Given the description of an element on the screen output the (x, y) to click on. 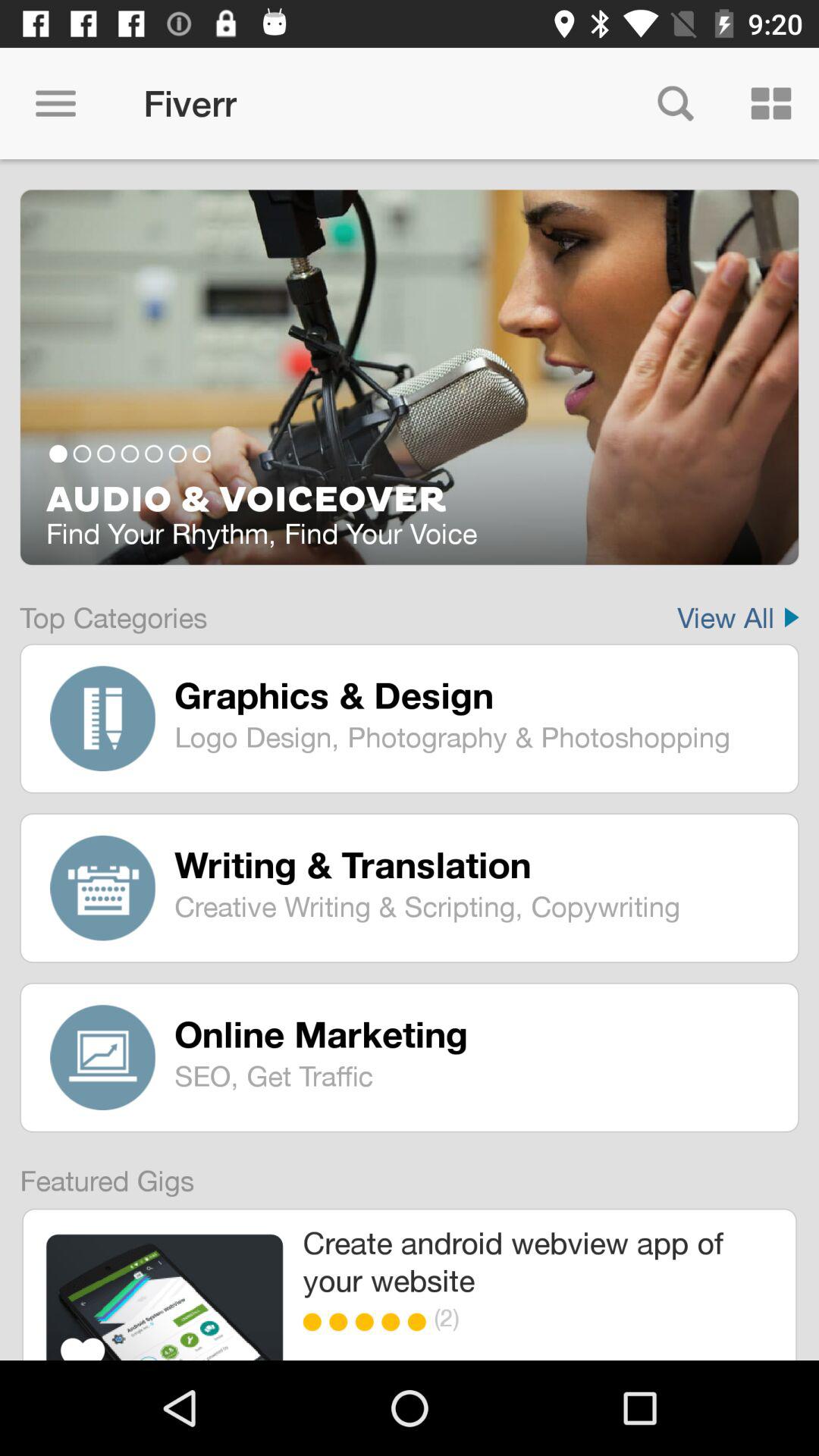
turn on icon below create android webview item (394, 1322)
